Given the description of an element on the screen output the (x, y) to click on. 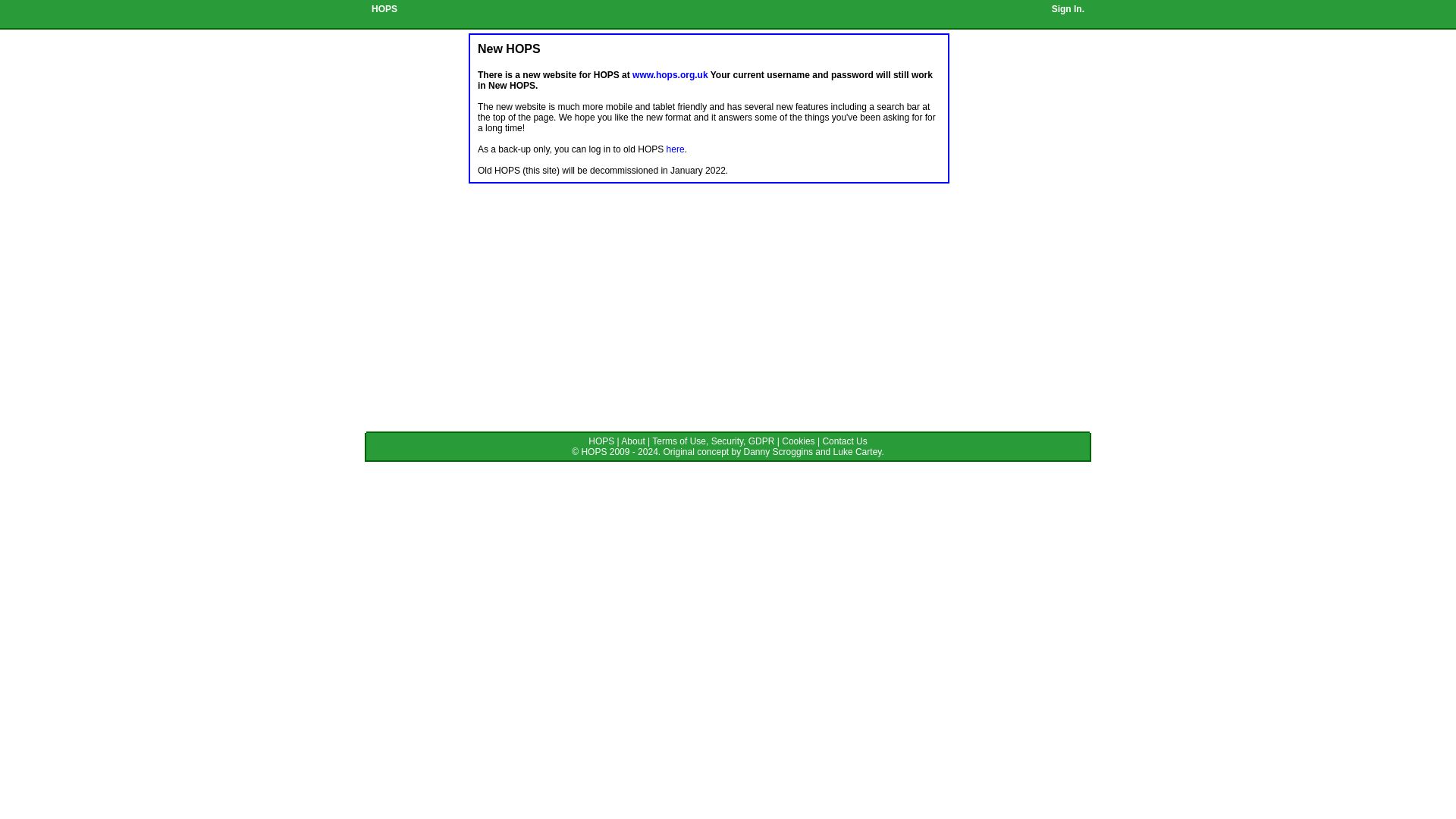
Contact Us (844, 440)
here (675, 149)
www.hops.org.uk (669, 74)
Cookies (797, 440)
About (633, 440)
Sign In (1066, 9)
Terms of Use, Security, GDPR (713, 440)
HOPS (601, 440)
Home (601, 440)
HOPS (384, 9)
